Given the description of an element on the screen output the (x, y) to click on. 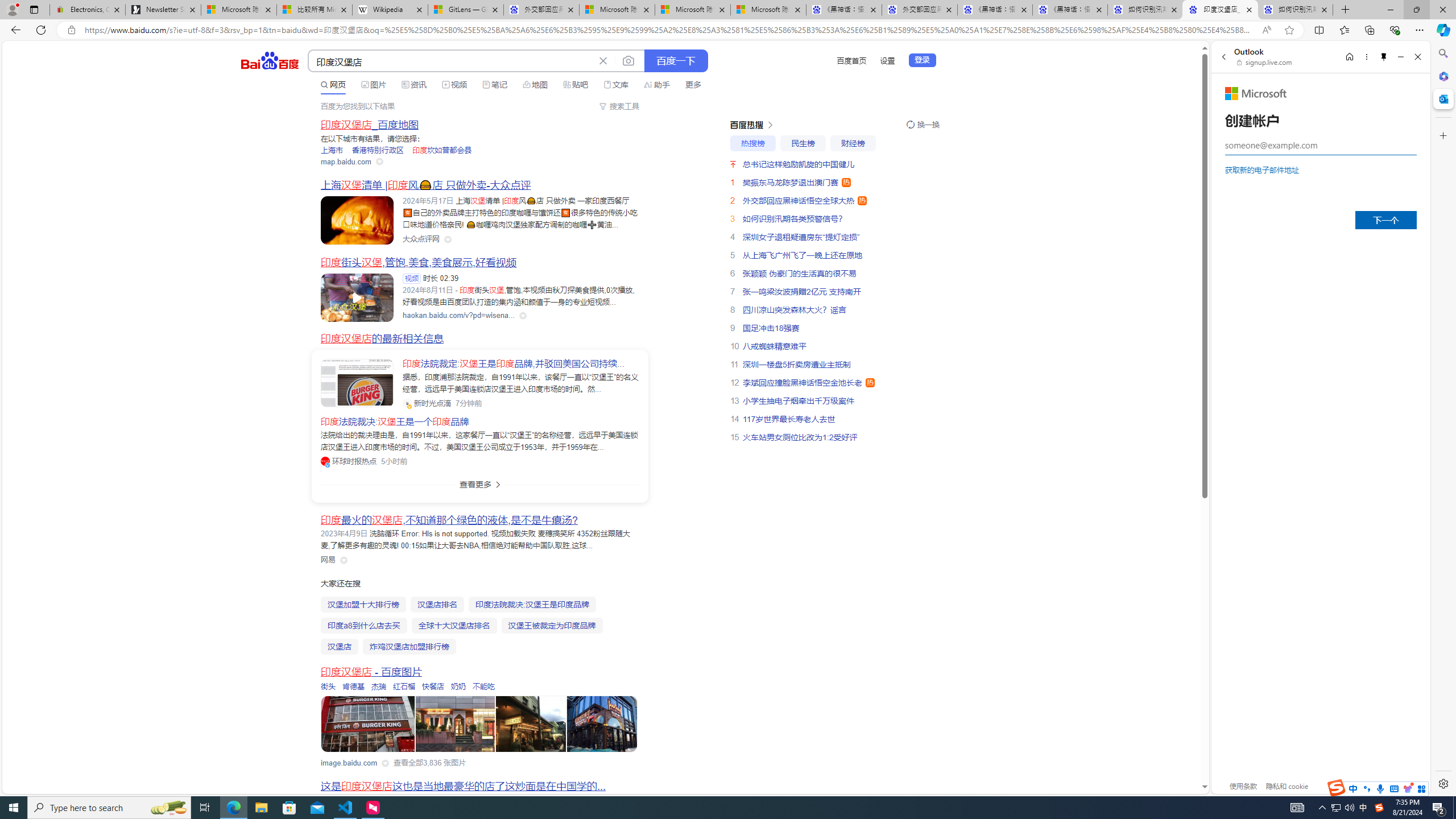
Class: siteLink_9TPP3 (327, 560)
